Given the description of an element on the screen output the (x, y) to click on. 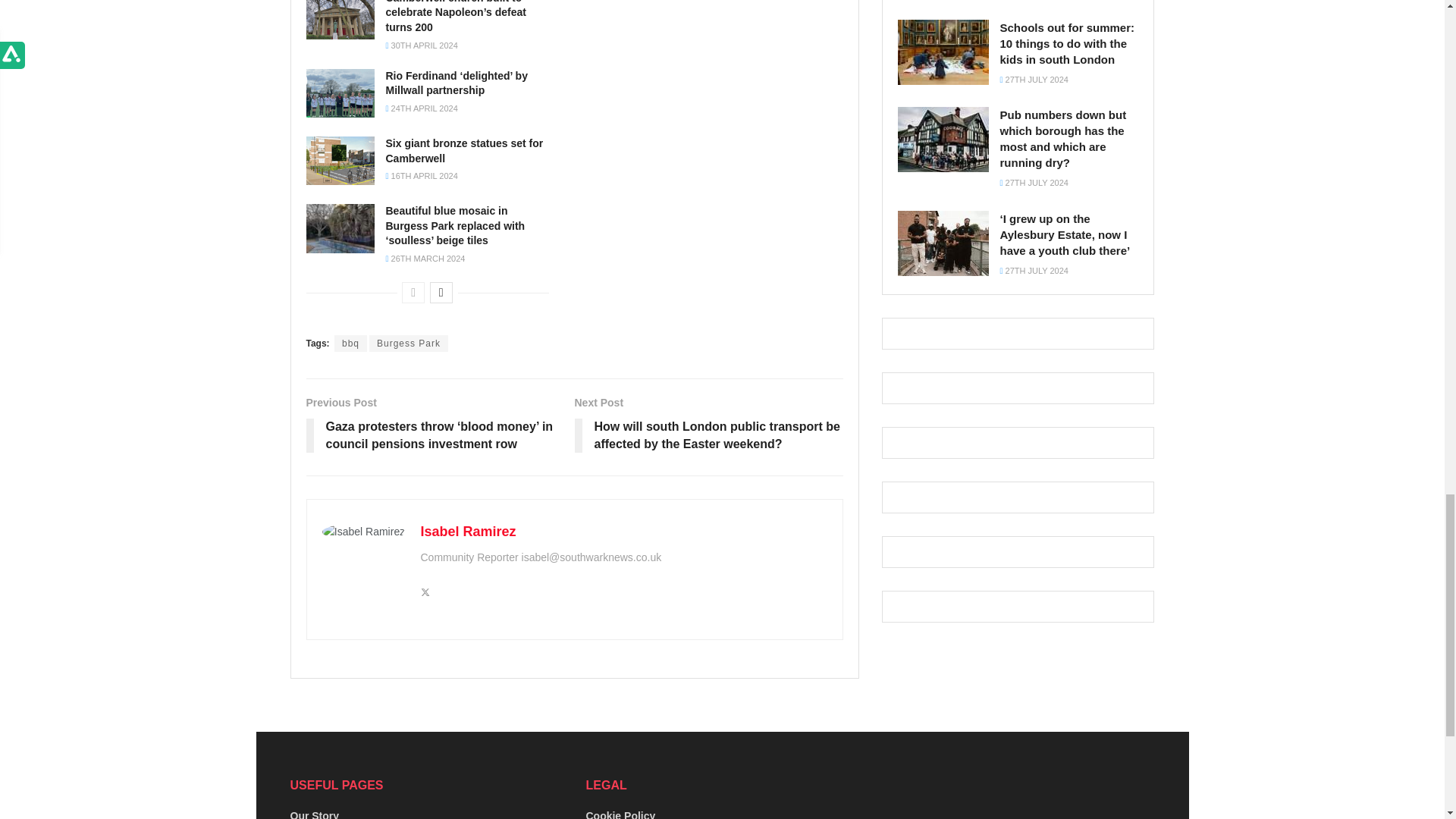
Next (440, 292)
Previous (413, 292)
